Given the description of an element on the screen output the (x, y) to click on. 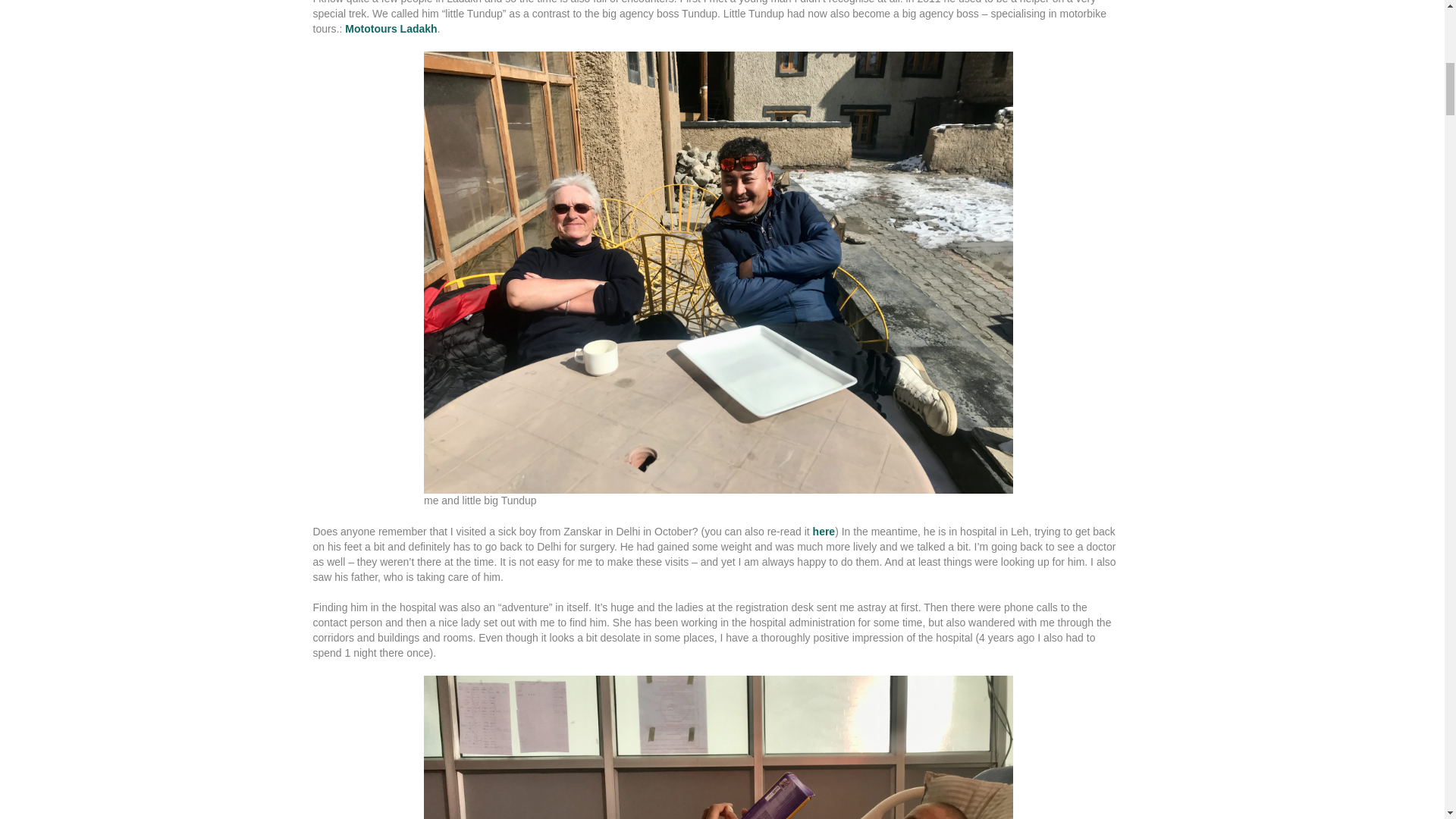
here (823, 531)
Mototours Ladakh (390, 28)
